Given the description of an element on the screen output the (x, y) to click on. 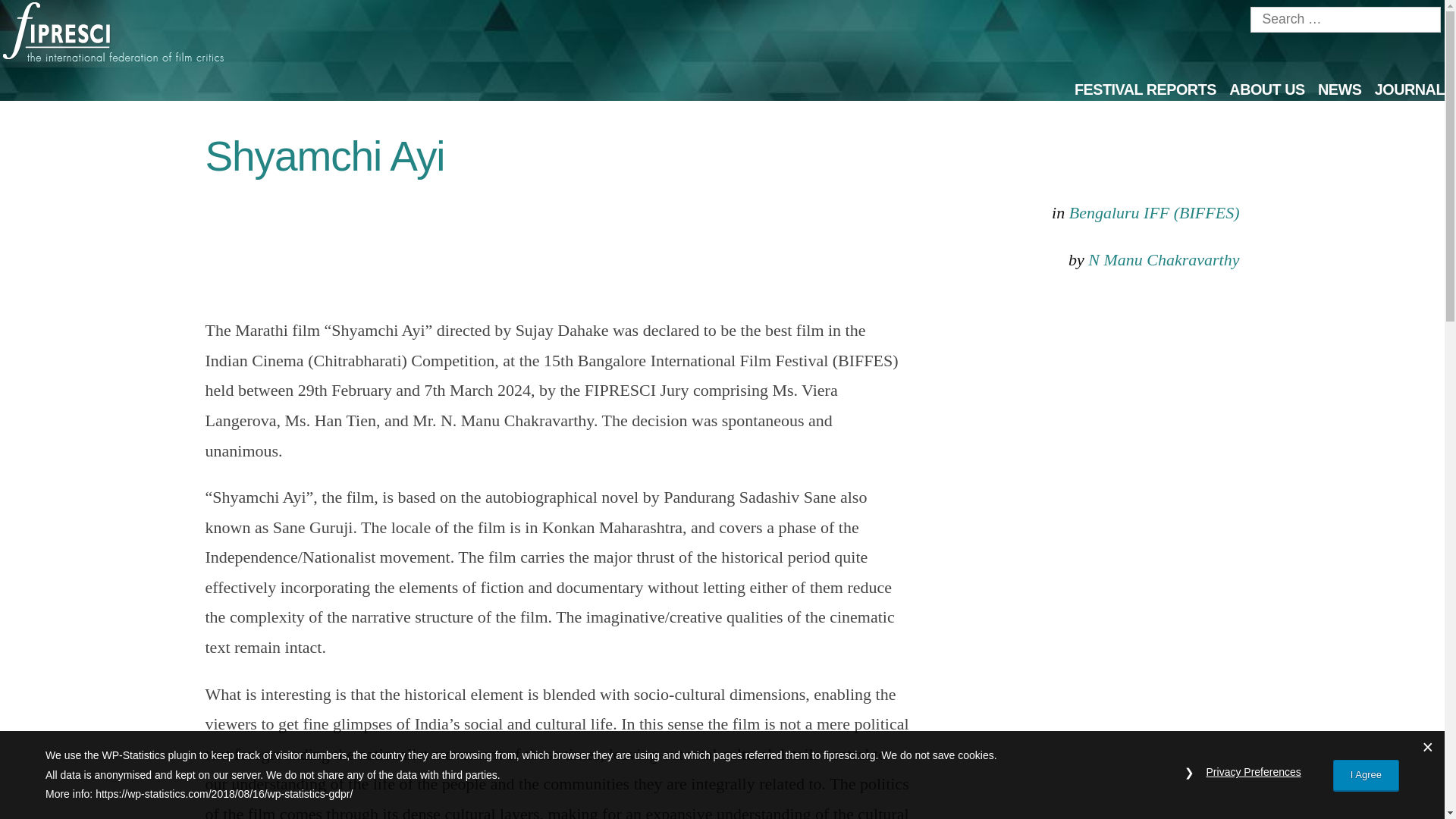
I Agree (1366, 775)
FESTIVAL REPORTS (1144, 89)
N Manu Chakravarthy (1163, 259)
Privacy Preferences (1253, 772)
Search (41, 13)
NEWS (1339, 89)
ABOUT US (1266, 89)
